Given the description of an element on the screen output the (x, y) to click on. 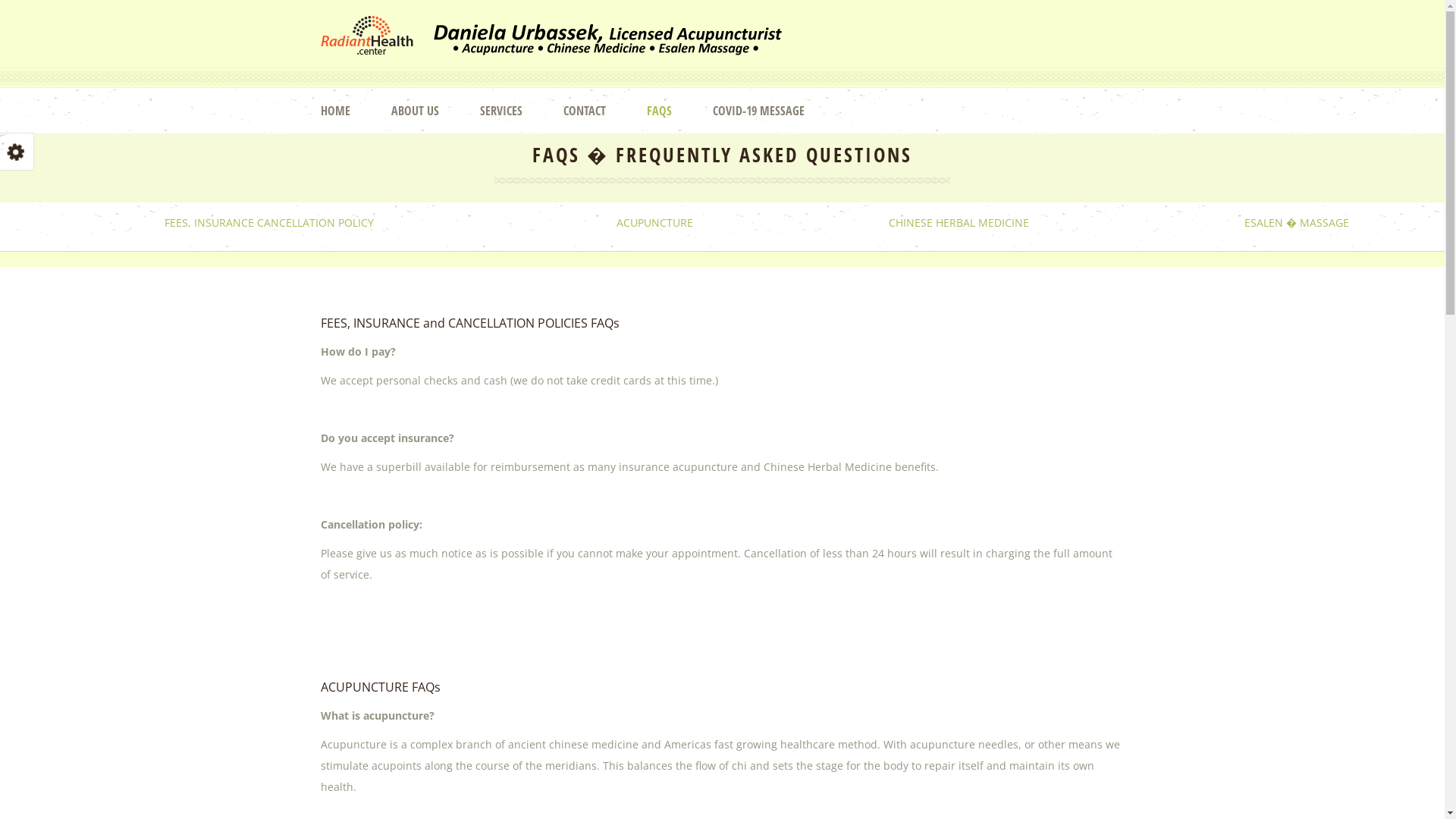
FEES, INSURANCE CANCELLATION POLICY Element type: text (268, 222)
CONTACT Element type: text (602, 110)
CHINESE HERBAL MEDICINE Element type: text (958, 222)
FAQS Element type: text (677, 110)
ACUPUNCTURE Element type: text (654, 222)
SERVICES Element type: text (519, 110)
HOME Element type: text (353, 110)
COVID-19 MESSAGE Element type: text (777, 110)
ABOUT US Element type: text (433, 110)
